Given the description of an element on the screen output the (x, y) to click on. 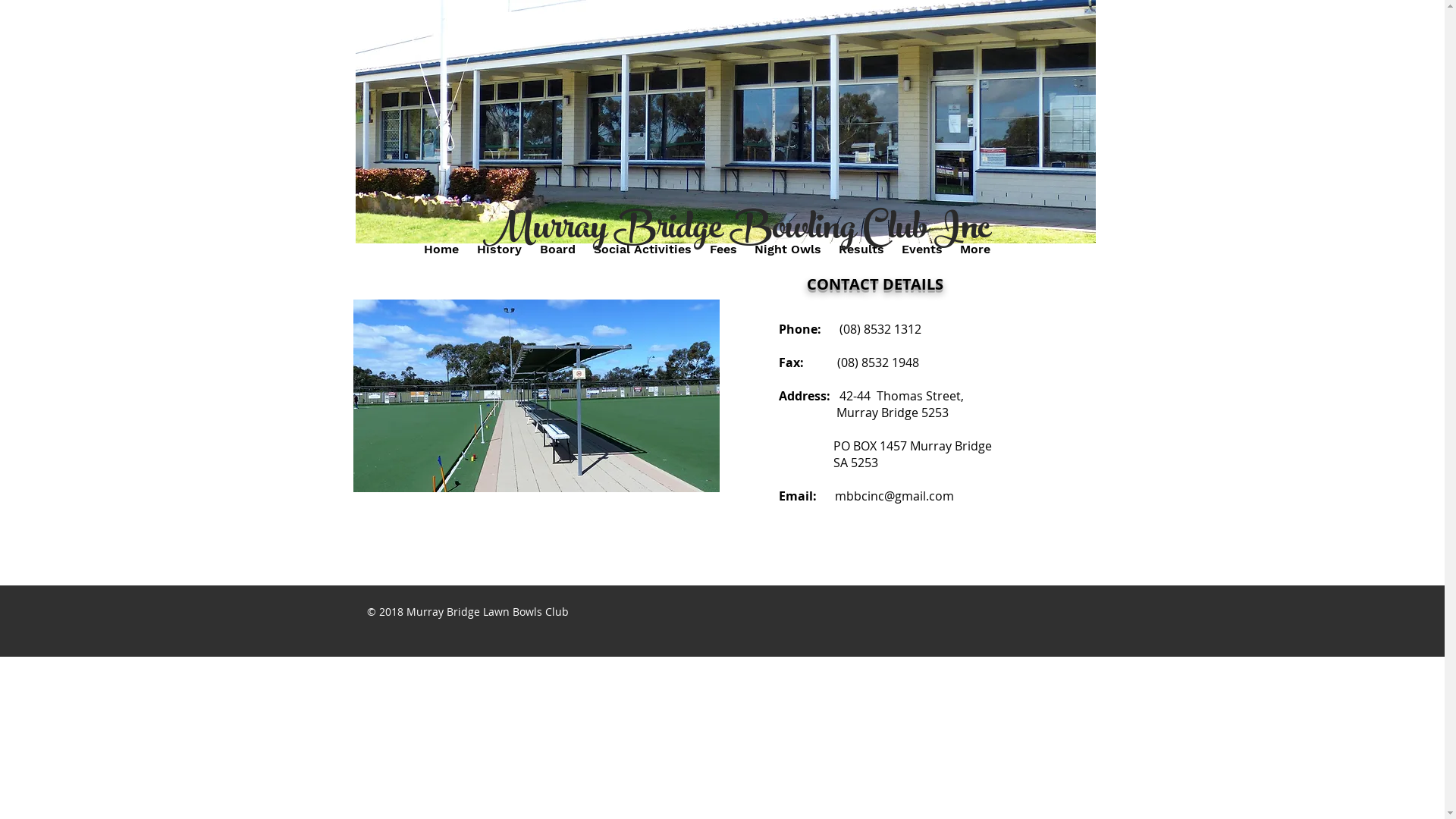
Home Element type: text (440, 249)
Events Element type: text (922, 249)
(08) 8532 1312 Element type: text (879, 328)
Embedded Content Element type: hover (438, 79)
Board Element type: text (557, 249)
Social Activities Element type: text (641, 249)
History Element type: text (498, 249)
Night Owls Element type: text (788, 249)
mbbcinc@gmail.com Element type: text (893, 495)
Results Element type: text (860, 249)
Fees Element type: text (723, 249)
